Given the description of an element on the screen output the (x, y) to click on. 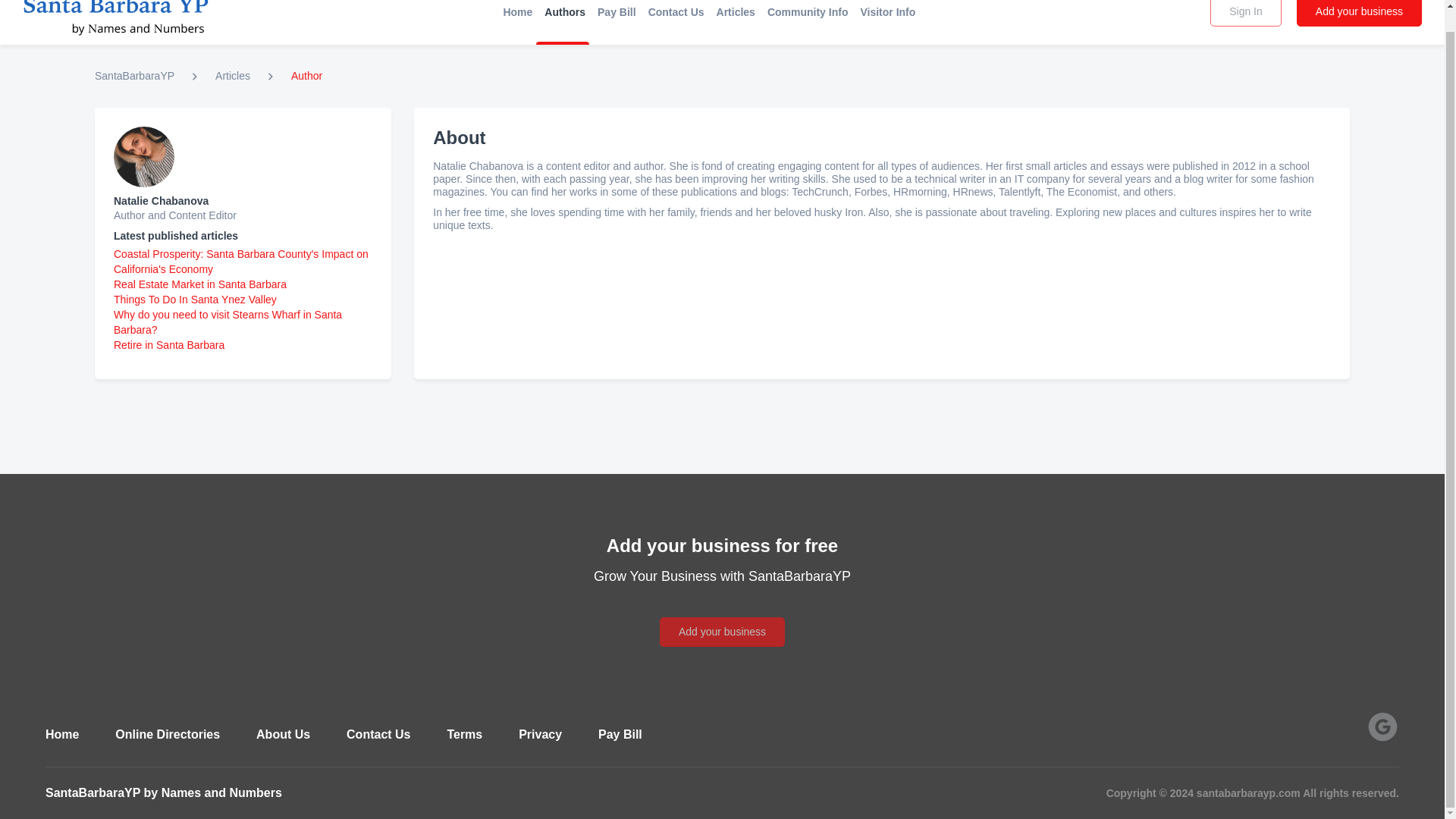
Things To Do In Santa Ynez Valley (194, 299)
Add your business (1359, 13)
Add your business (721, 614)
Online Directories (167, 734)
Visitor Info (887, 11)
Pay Bill (620, 734)
Articles (232, 75)
Community Info (807, 11)
Authors (564, 11)
Privacy (540, 734)
